Given the description of an element on the screen output the (x, y) to click on. 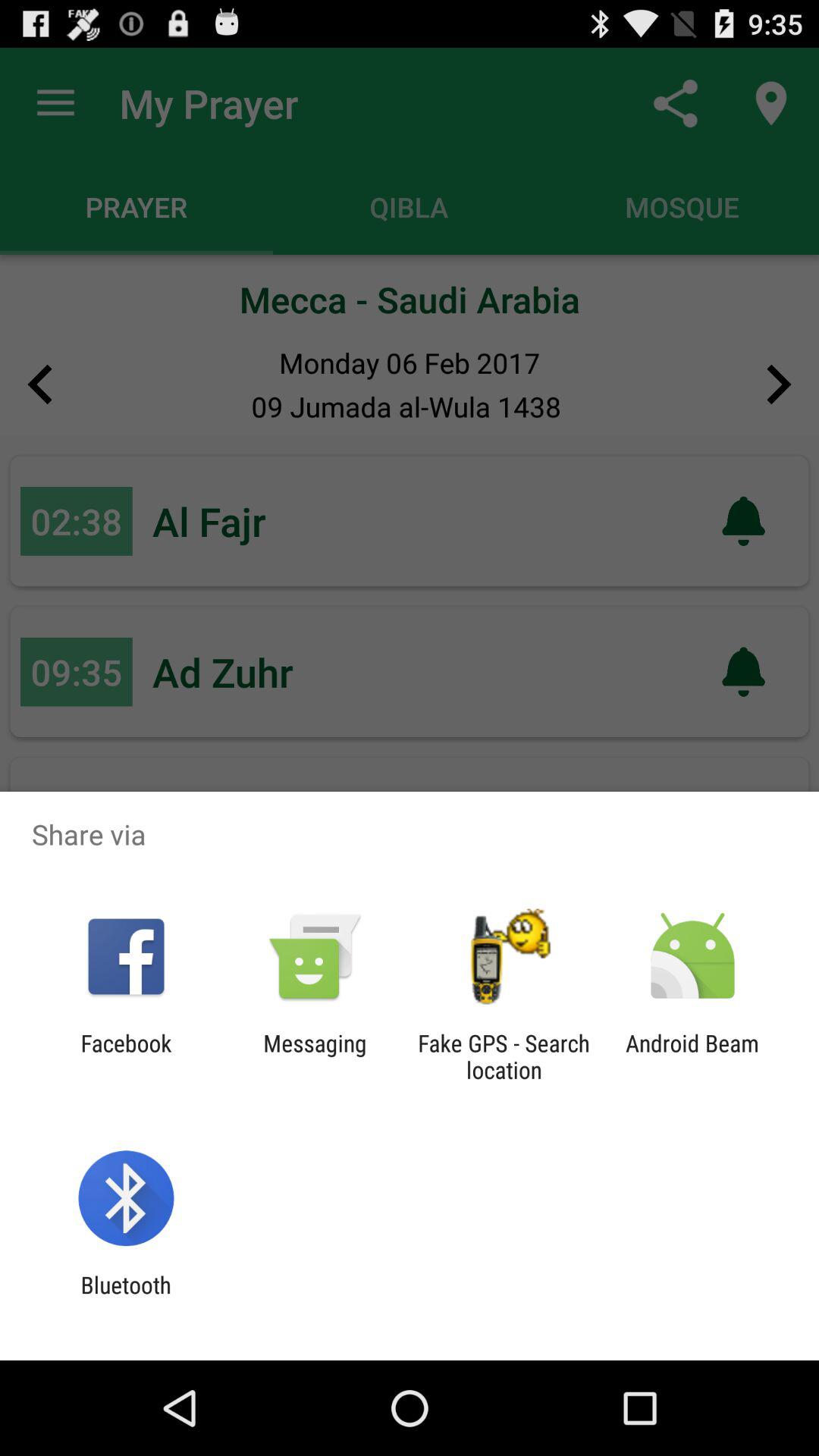
choose item next to android beam (503, 1056)
